Given the description of an element on the screen output the (x, y) to click on. 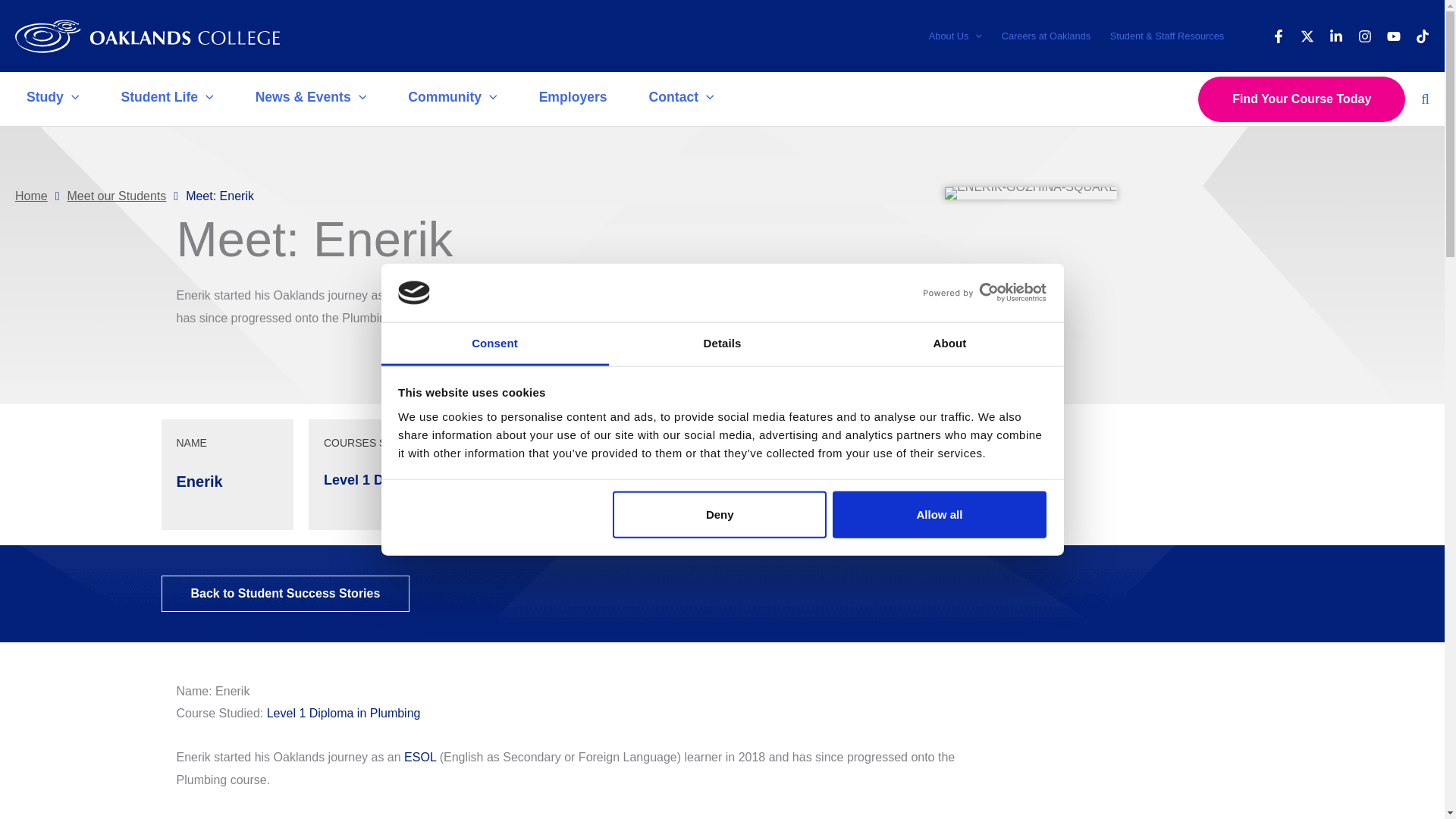
Consent (494, 344)
About (948, 344)
Details (721, 344)
ENERIK-GOZHINA-SQUARE (1030, 193)
Click Here (284, 593)
